Given the description of an element on the screen output the (x, y) to click on. 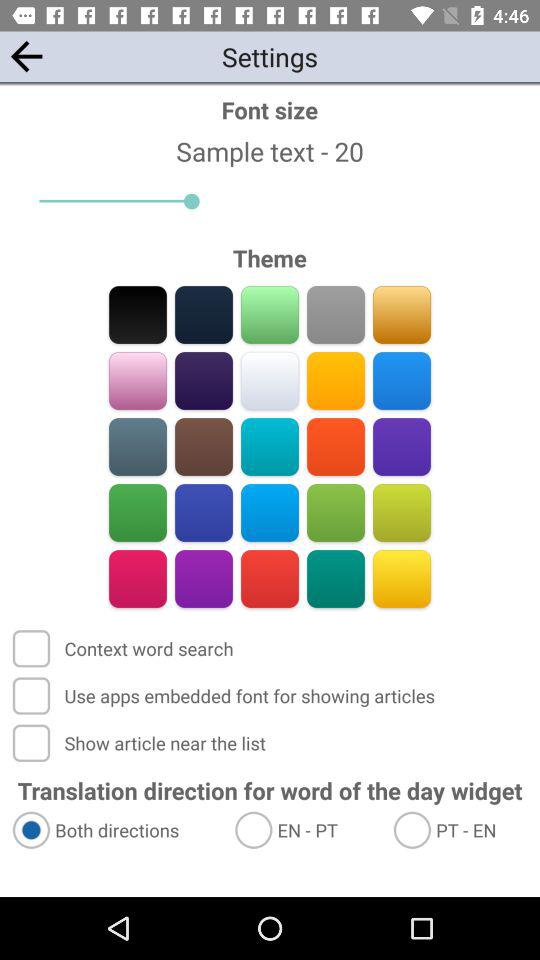
go do couler (269, 446)
